Given the description of an element on the screen output the (x, y) to click on. 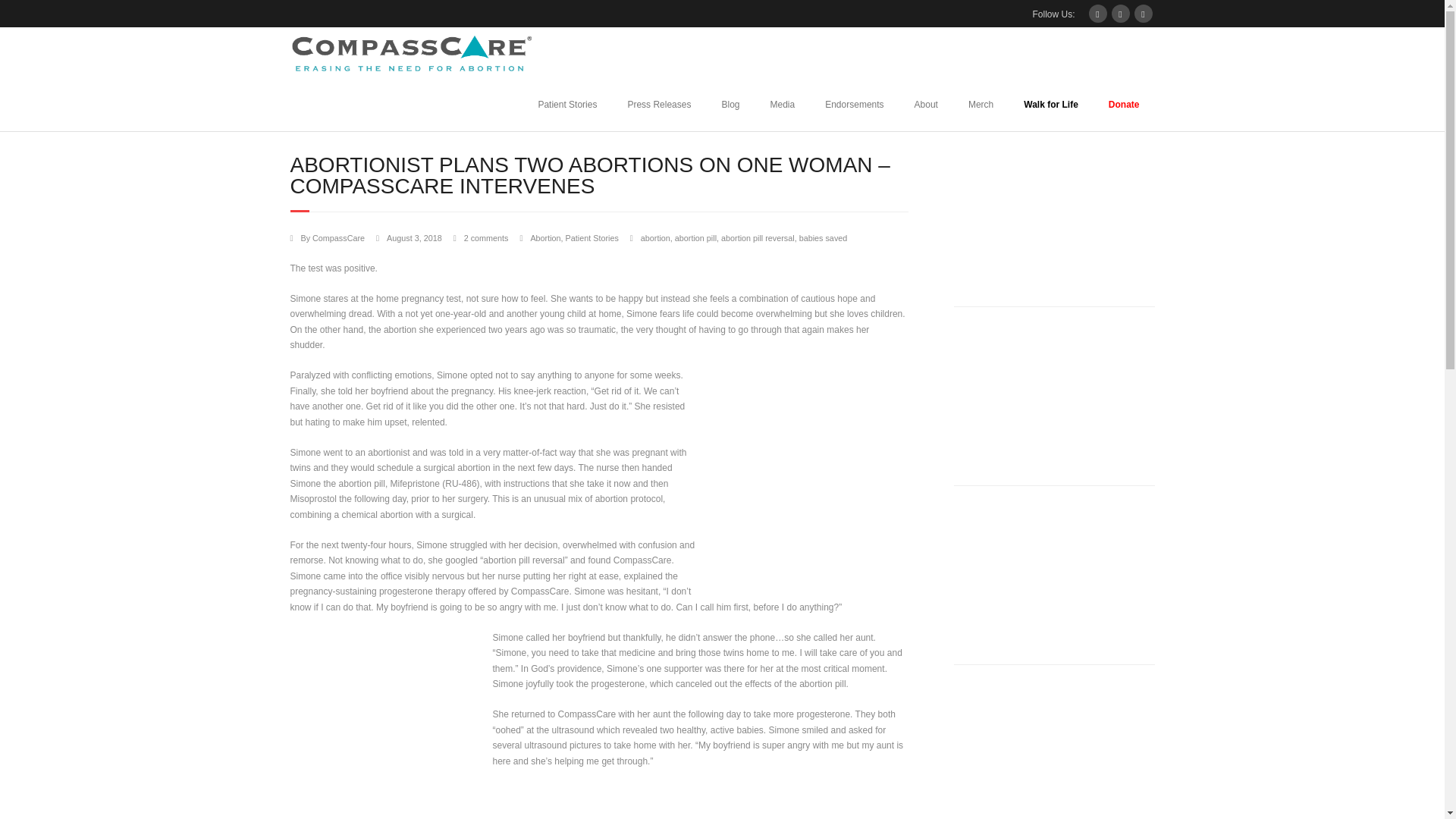
Abortion (544, 237)
Donate (1123, 104)
abortion (654, 237)
abortion pill (695, 237)
Media (782, 104)
2 comments (486, 237)
View all posts by CompassCare (339, 237)
August 3, 2018 (414, 237)
Press Releases (658, 104)
Walk for Life (1051, 104)
Merch (981, 104)
abortion pill reversal (757, 237)
Patient Stories (566, 104)
babies saved (823, 237)
Blog (730, 104)
